Given the description of an element on the screen output the (x, y) to click on. 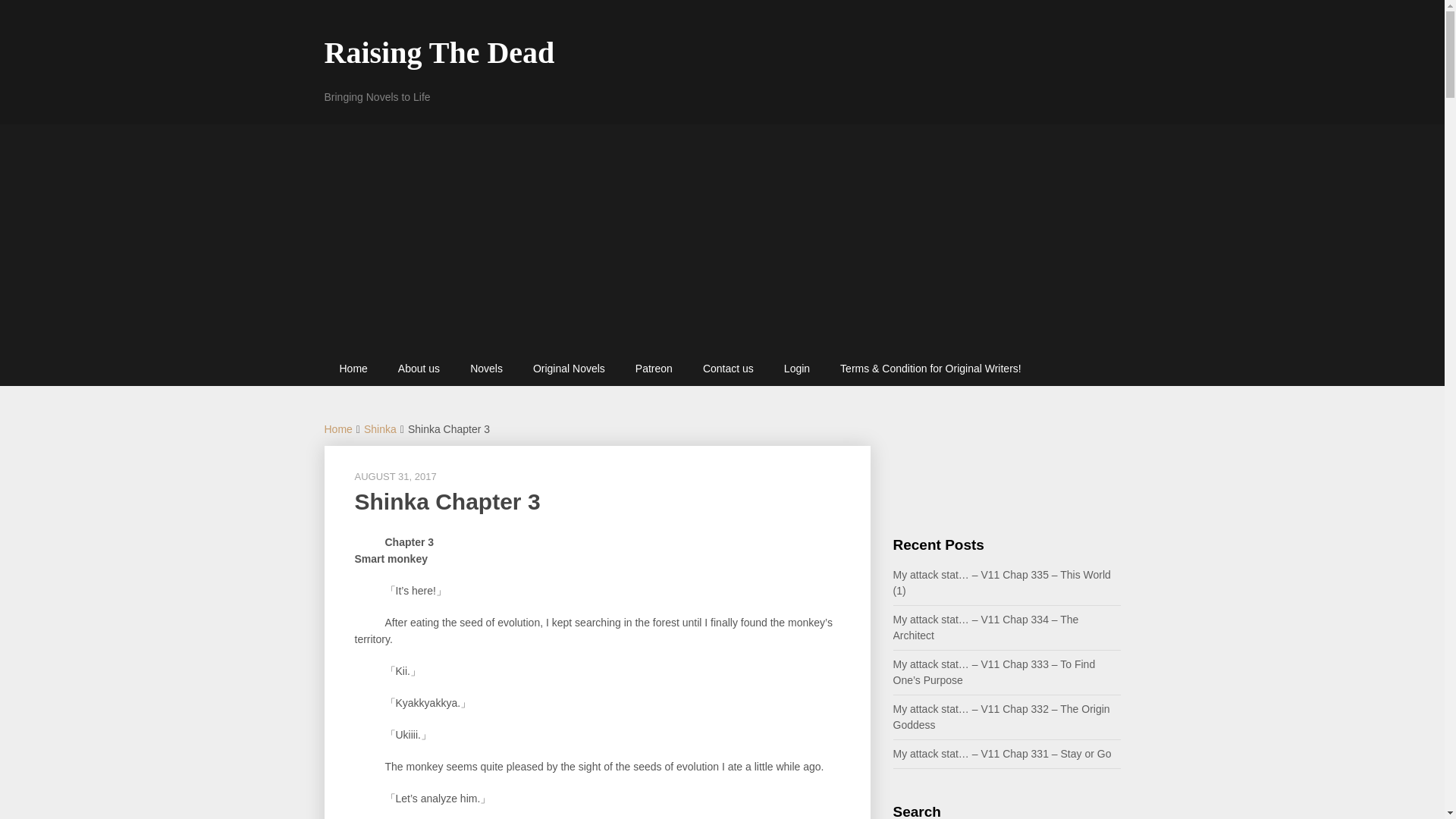
Shinka (380, 428)
Contact us (727, 368)
Patreon (653, 368)
Home (353, 368)
Novels (486, 368)
Original Novels (569, 368)
About us (418, 368)
Login (796, 368)
Home (338, 428)
Raising The Dead (439, 52)
